Given the description of an element on the screen output the (x, y) to click on. 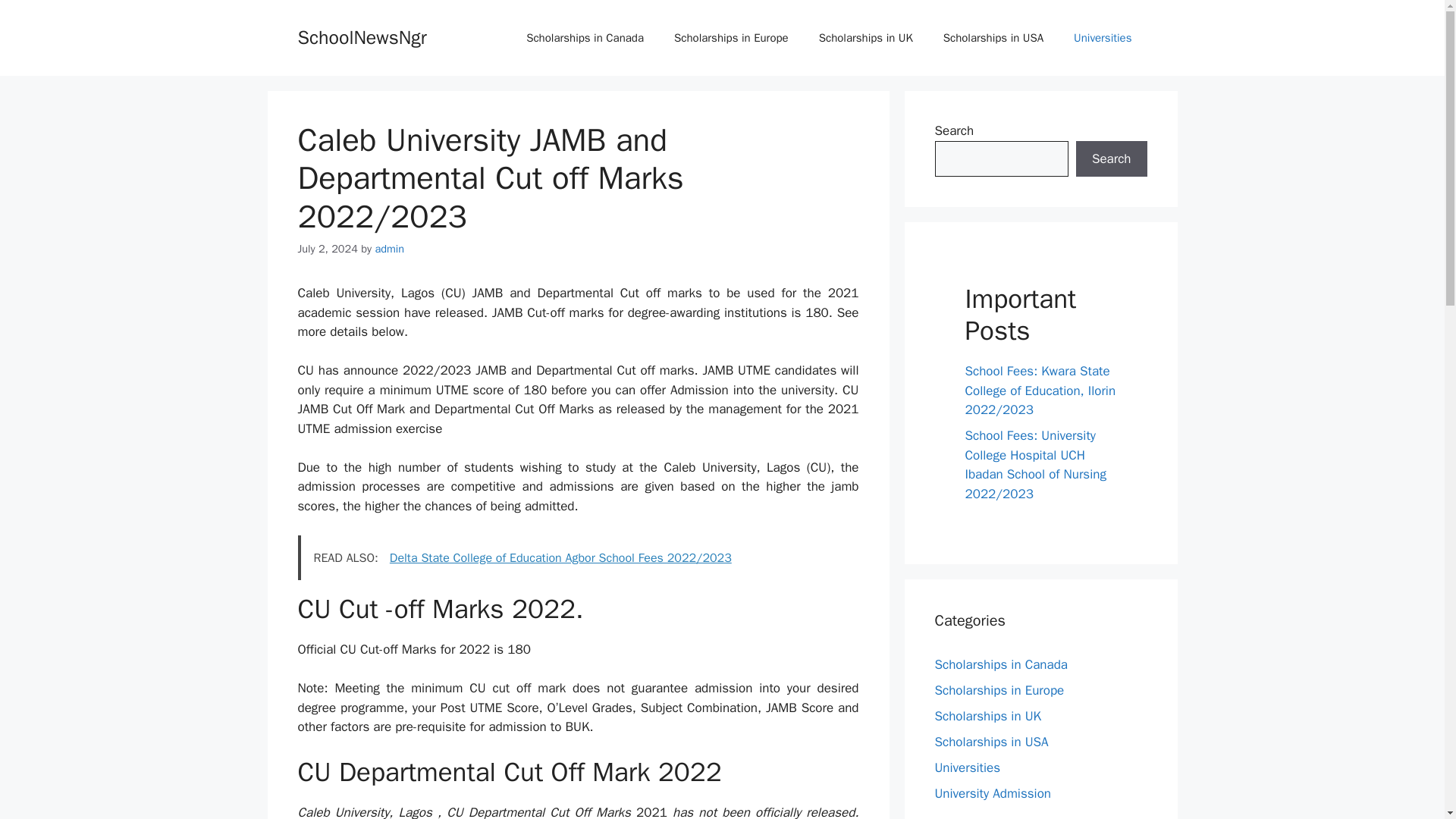
University Admission (991, 793)
Universities (967, 767)
Scholarships in USA (993, 37)
Scholarships in Canada (585, 37)
Search (1111, 158)
Scholarships in Canada (1000, 664)
Scholarships in Europe (999, 690)
Scholarships in USA (991, 741)
admin (389, 248)
SchoolNewsNgr (361, 37)
